Given the description of an element on the screen output the (x, y) to click on. 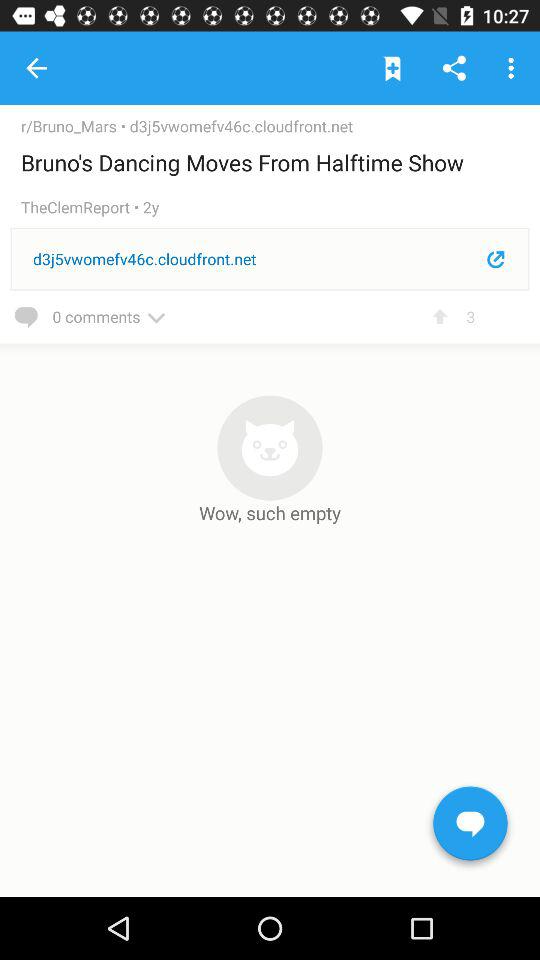
launch the item to the left of the 2y (81, 207)
